Given the description of an element on the screen output the (x, y) to click on. 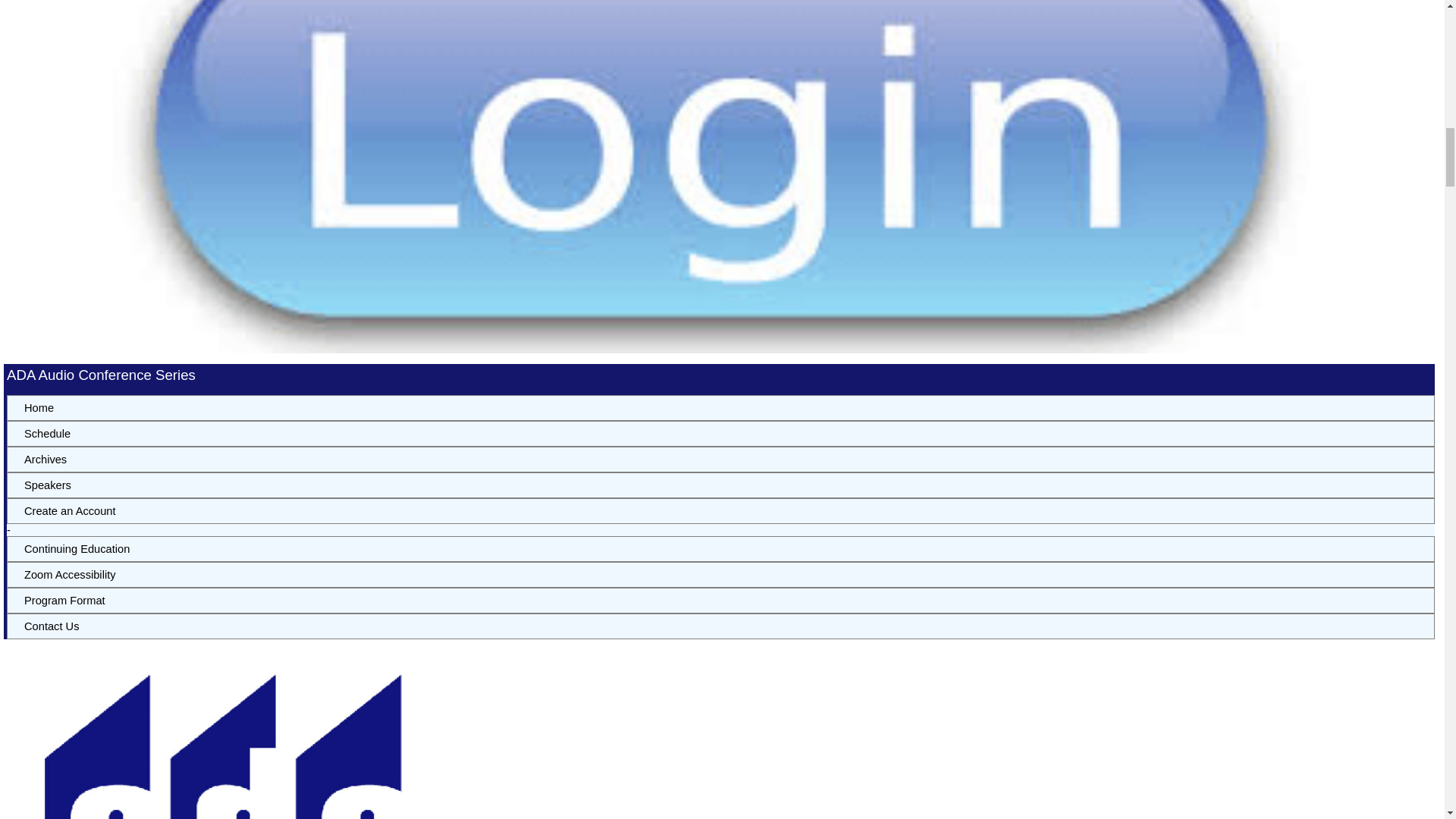
Program Format (720, 600)
Home (720, 407)
Archives (720, 459)
Speakers (720, 485)
Schedule (720, 433)
Create an Account (720, 510)
Contact Us (720, 626)
Zoom Accessibility (720, 574)
Continuing Education (720, 549)
